Given the description of an element on the screen output the (x, y) to click on. 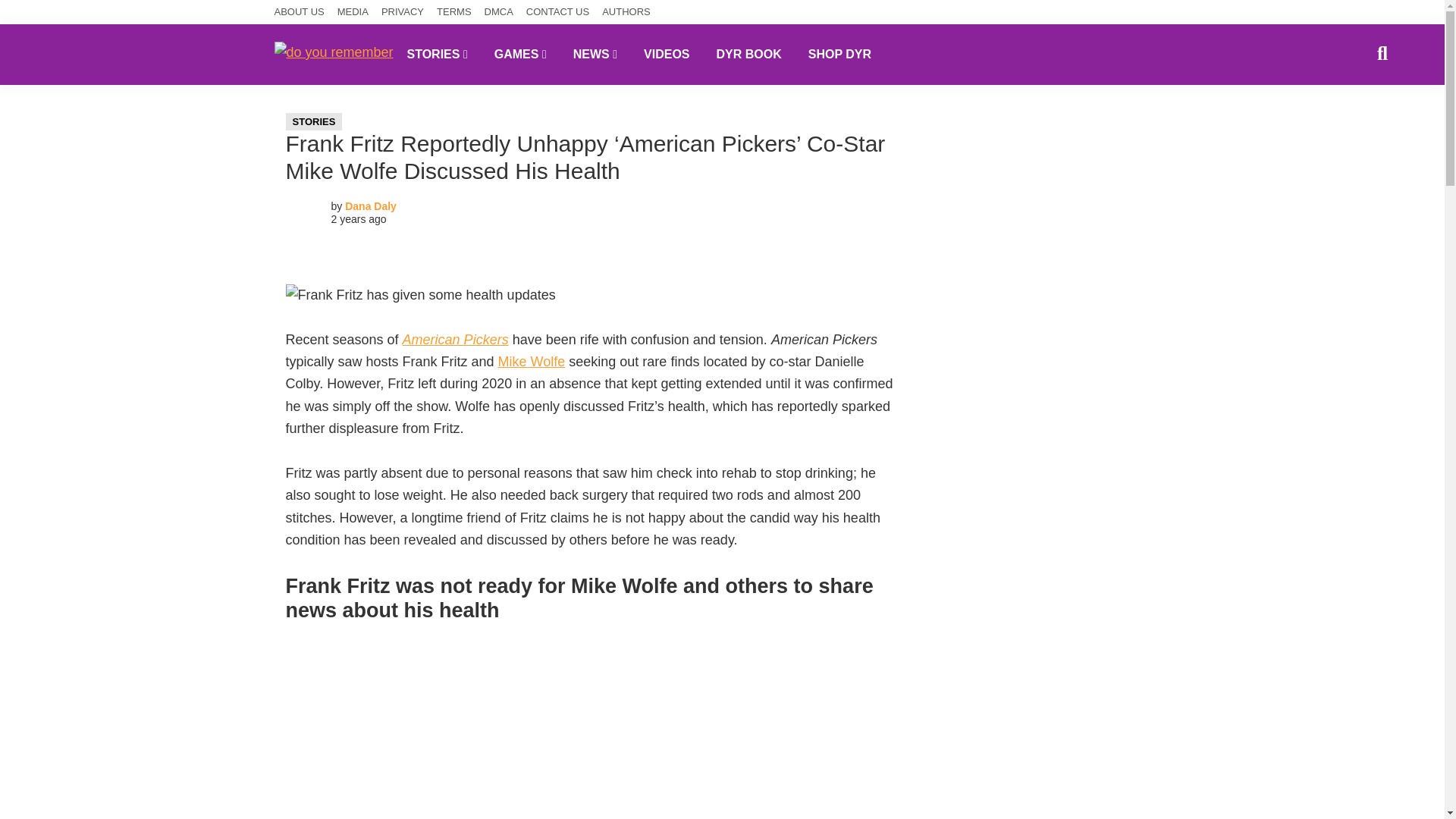
PRIVACY (402, 12)
TERMS (453, 12)
DYR BOOK (748, 54)
SHOP DYR (839, 54)
NEWS (595, 54)
ABOUT US (299, 12)
VIDEOS (665, 54)
DMCA (498, 12)
American Pickers (455, 339)
CONTACT US (557, 12)
MEDIA (352, 12)
STORIES (314, 121)
Mike Wolfe (531, 361)
STORIES (437, 54)
